Given the description of an element on the screen output the (x, y) to click on. 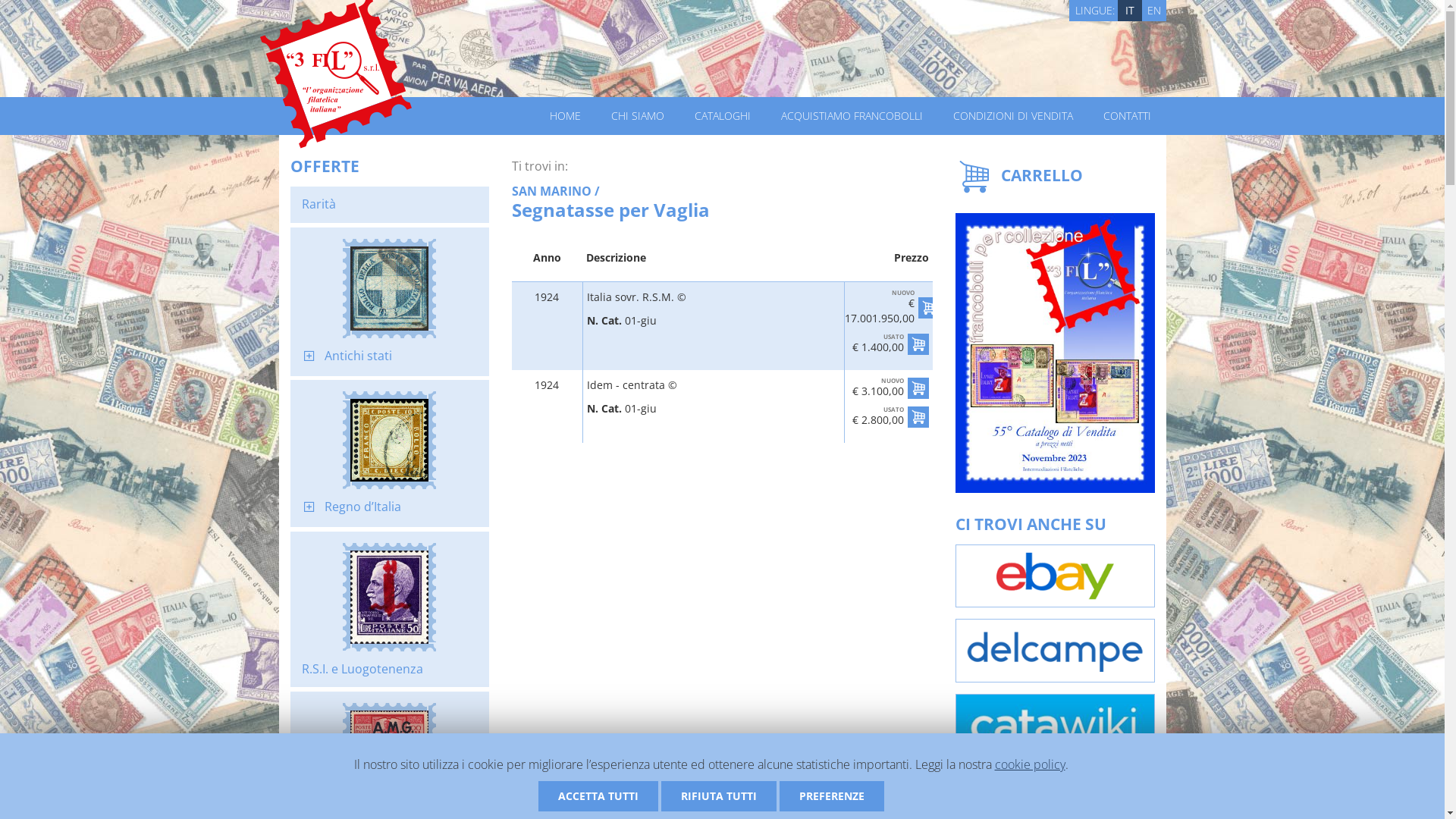
Antichi stati Element type: hover (389, 288)
IT Element type: text (1129, 10)
R.S.I. e Luogotenenza Element type: text (362, 668)
Antichi stati Element type: text (358, 355)
cookie policy Element type: text (1029, 764)
CONDIZIONI DI VENDITA Element type: text (1012, 115)
ACQUISTIAMO FRANCOBOLLI Element type: text (851, 115)
HOME Element type: text (564, 115)
CHI SIAMO Element type: text (637, 115)
R.S.I. e Luogotenenza Element type: hover (389, 596)
SAN MARINO Element type: text (551, 190)
PREFERENZE Element type: text (831, 796)
CONTATTI Element type: text (1126, 115)
RIFIUTA TUTTI Element type: text (718, 796)
EN Element type: text (1154, 10)
CATALOGHI Element type: text (722, 115)
ACCETTA TUTTI Element type: text (598, 796)
